Given the description of an element on the screen output the (x, y) to click on. 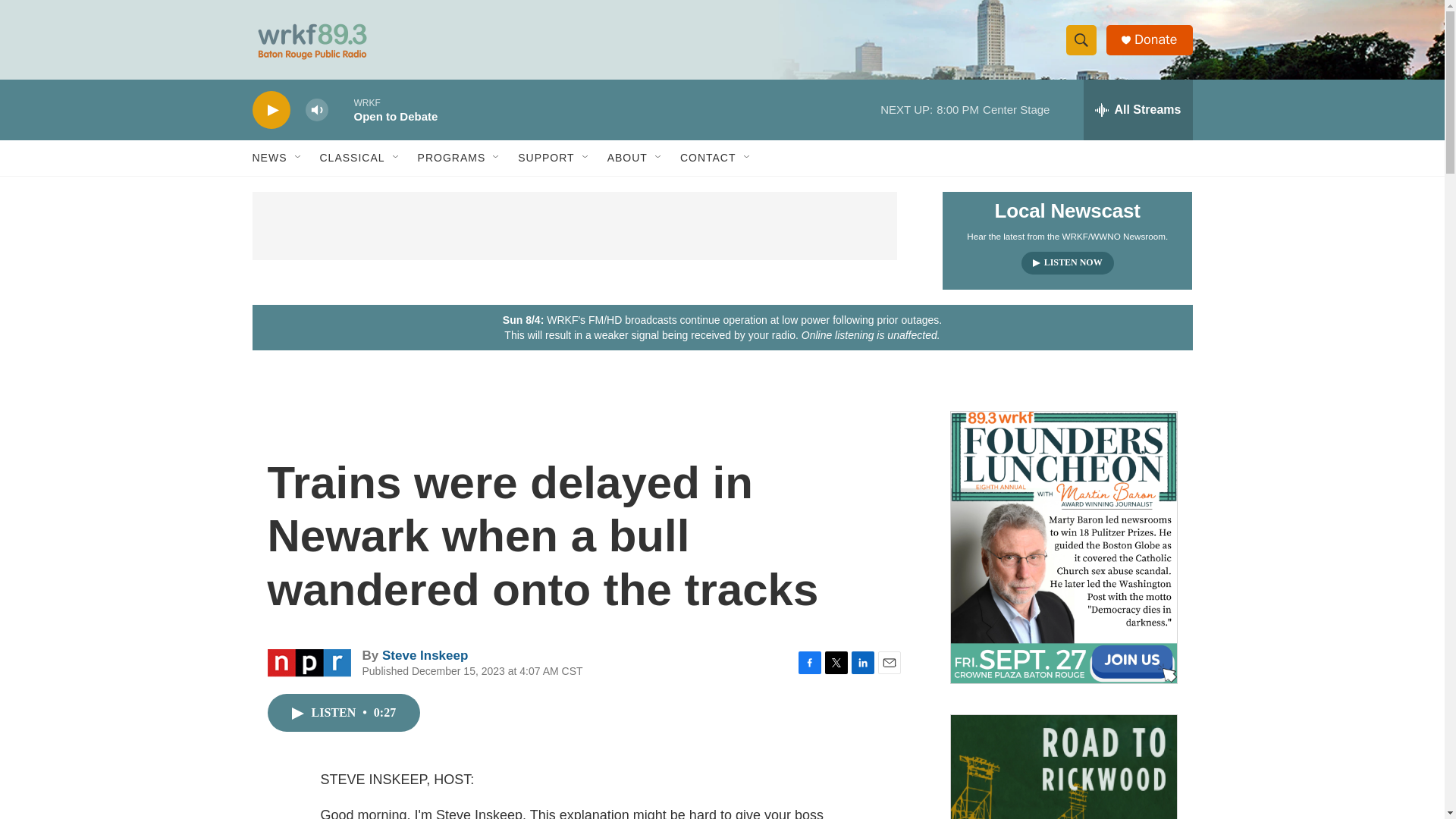
3rd party ad content (574, 225)
